Given the description of an element on the screen output the (x, y) to click on. 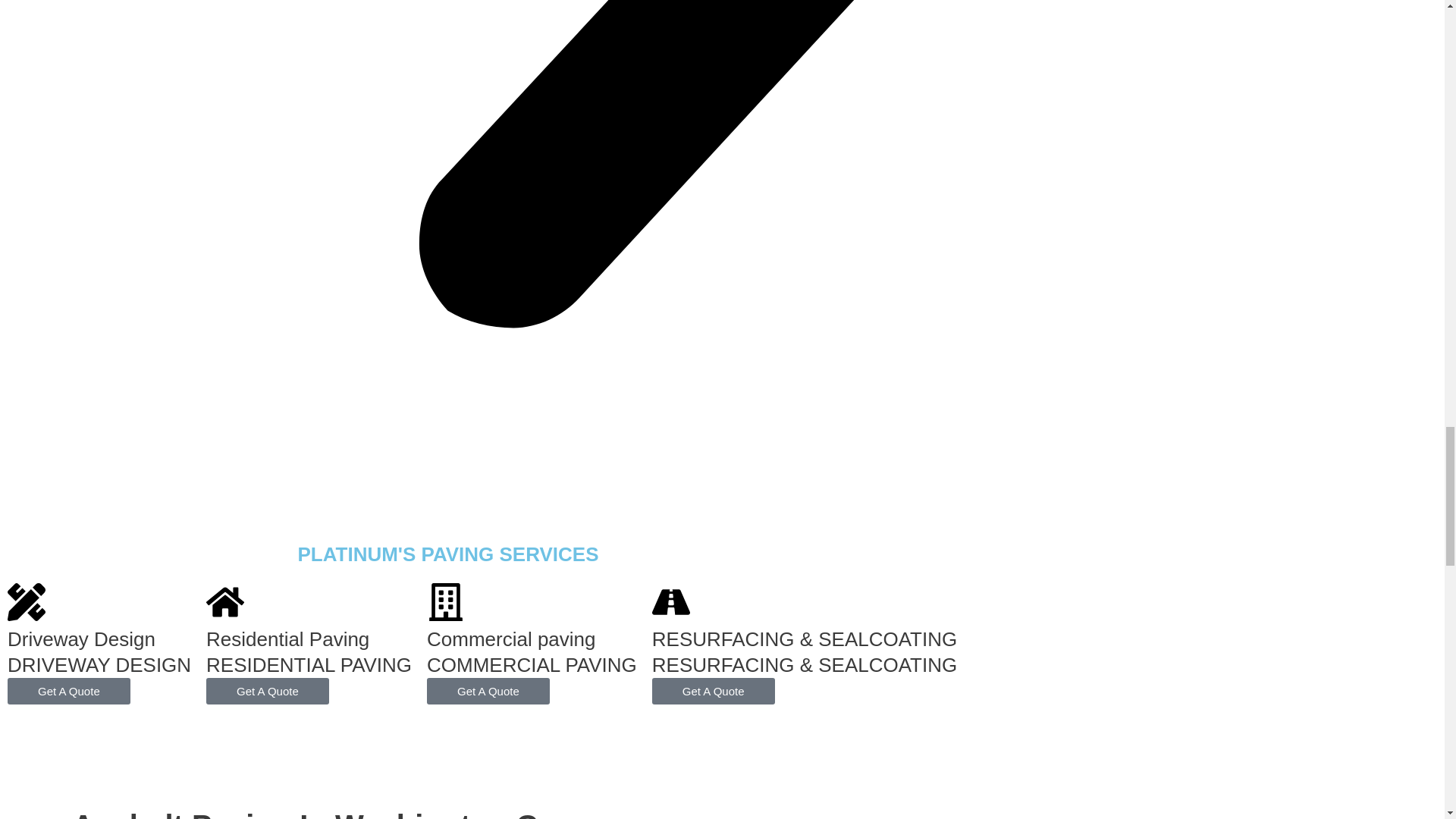
Get A Quote (488, 691)
Get A Quote (69, 691)
Get A Quote (267, 691)
Get A Quote (713, 691)
